Given the description of an element on the screen output the (x, y) to click on. 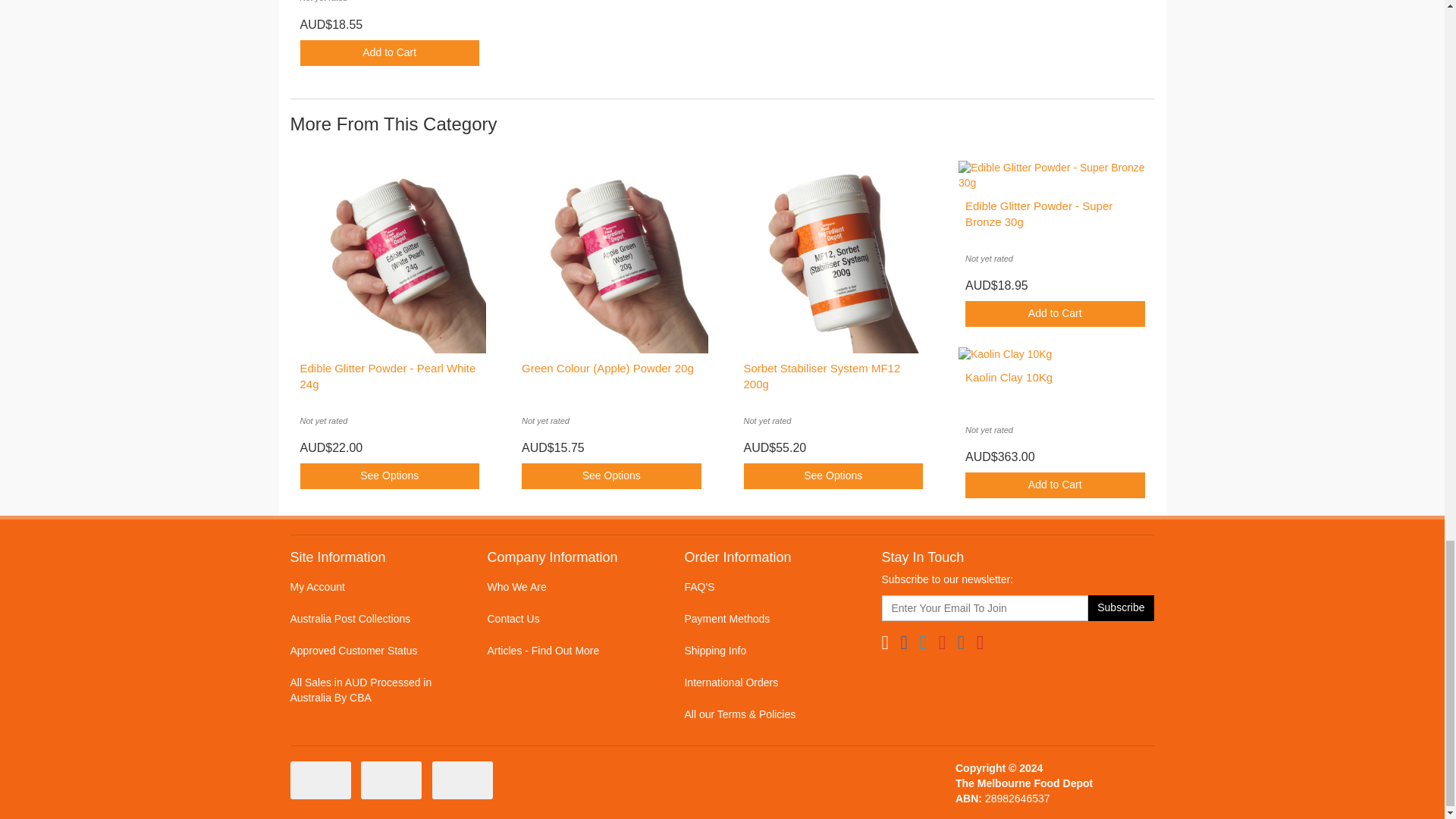
Edible Glitter Powder - Super Bronze 30g (1038, 213)
Subscribe (1120, 607)
Buying Options (832, 475)
Edible Glitter Powder - Pearl White 24g (387, 375)
Buying Options (389, 475)
Sorbet Stabiliser System MF12 200g (820, 375)
Buying Options (611, 475)
Add to Cart (389, 53)
